Given the description of an element on the screen output the (x, y) to click on. 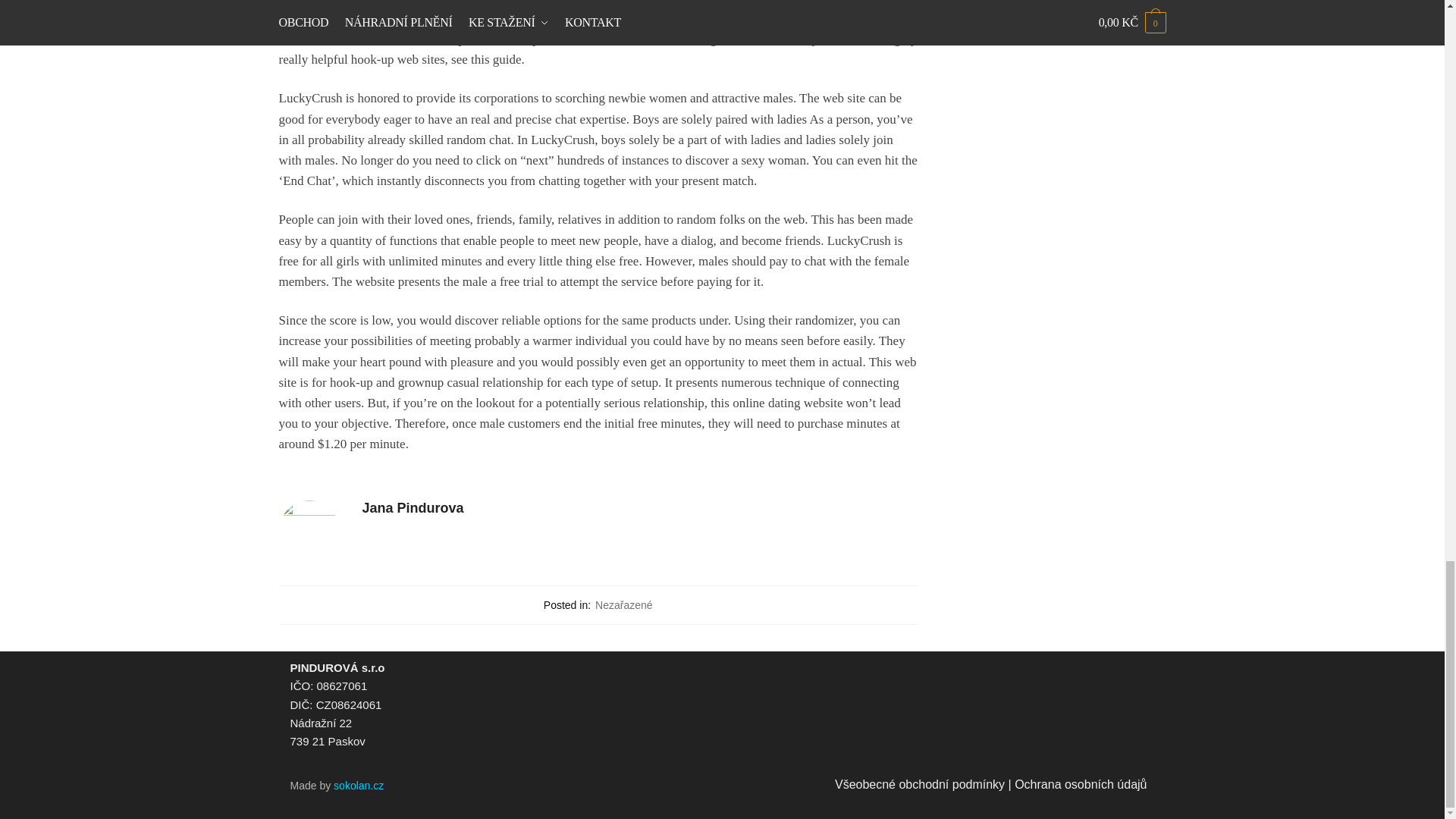
Jana Pindurova (639, 508)
sokolan.cz (358, 785)
